Given the description of an element on the screen output the (x, y) to click on. 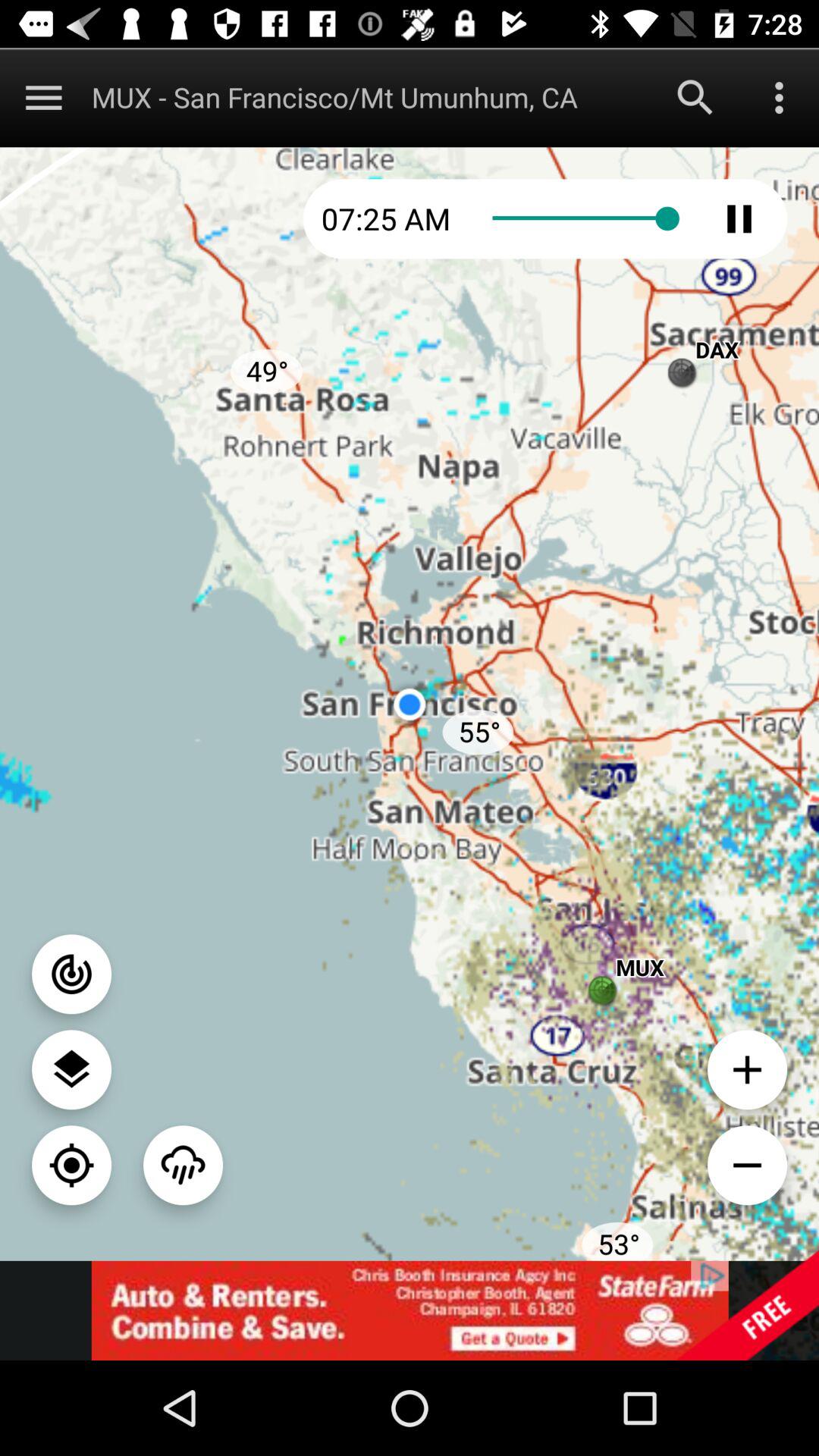
zoom (747, 1069)
